Given the description of an element on the screen output the (x, y) to click on. 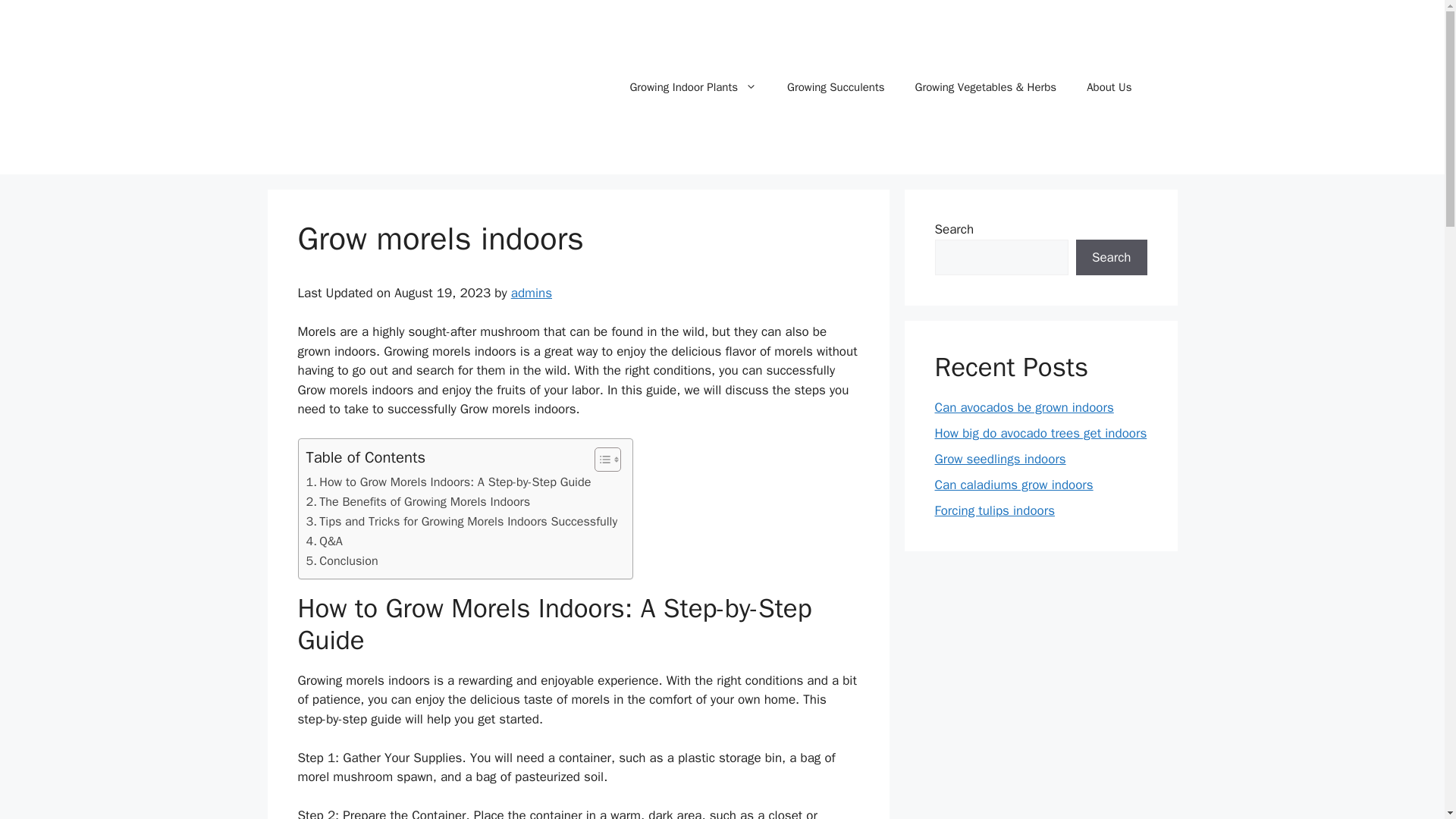
The Benefits of Growing Morels Indoors (418, 501)
Can avocados be grown indoors (1023, 407)
How to Grow Morels Indoors: A Step-by-Step Guide (448, 482)
Tips and Tricks for Growing Morels Indoors Successfully (461, 521)
Tips and Tricks for Growing Morels Indoors Successfully (461, 521)
Conclusion (341, 560)
How big do avocado trees get indoors (1040, 433)
Forcing tulips indoors (994, 510)
Growing Succulents (835, 86)
About Us (1109, 86)
